Given the description of an element on the screen output the (x, y) to click on. 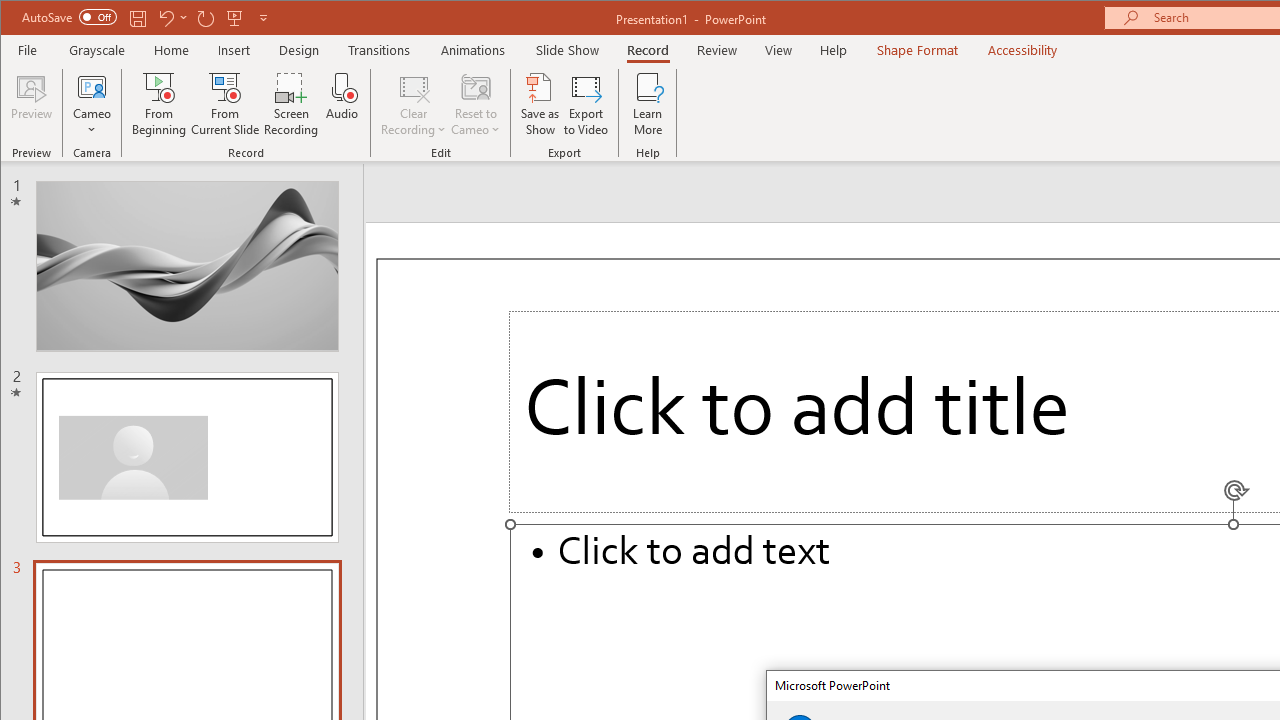
Grayscale (97, 50)
Audio (342, 104)
From Current Slide... (225, 104)
Export to Video (585, 104)
